Given the description of an element on the screen output the (x, y) to click on. 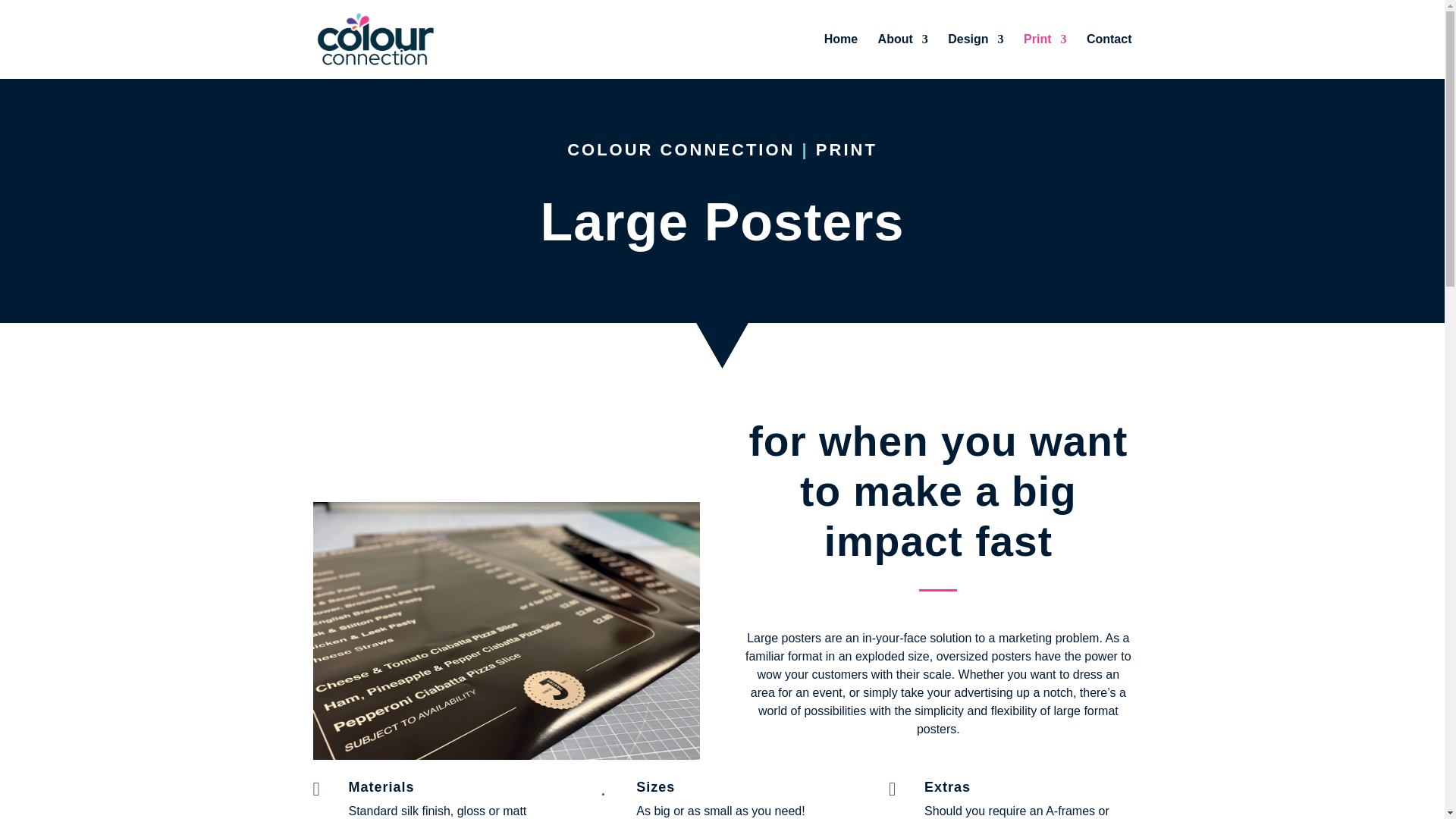
Design (975, 56)
Print (1044, 56)
About (902, 56)
